Given the description of an element on the screen output the (x, y) to click on. 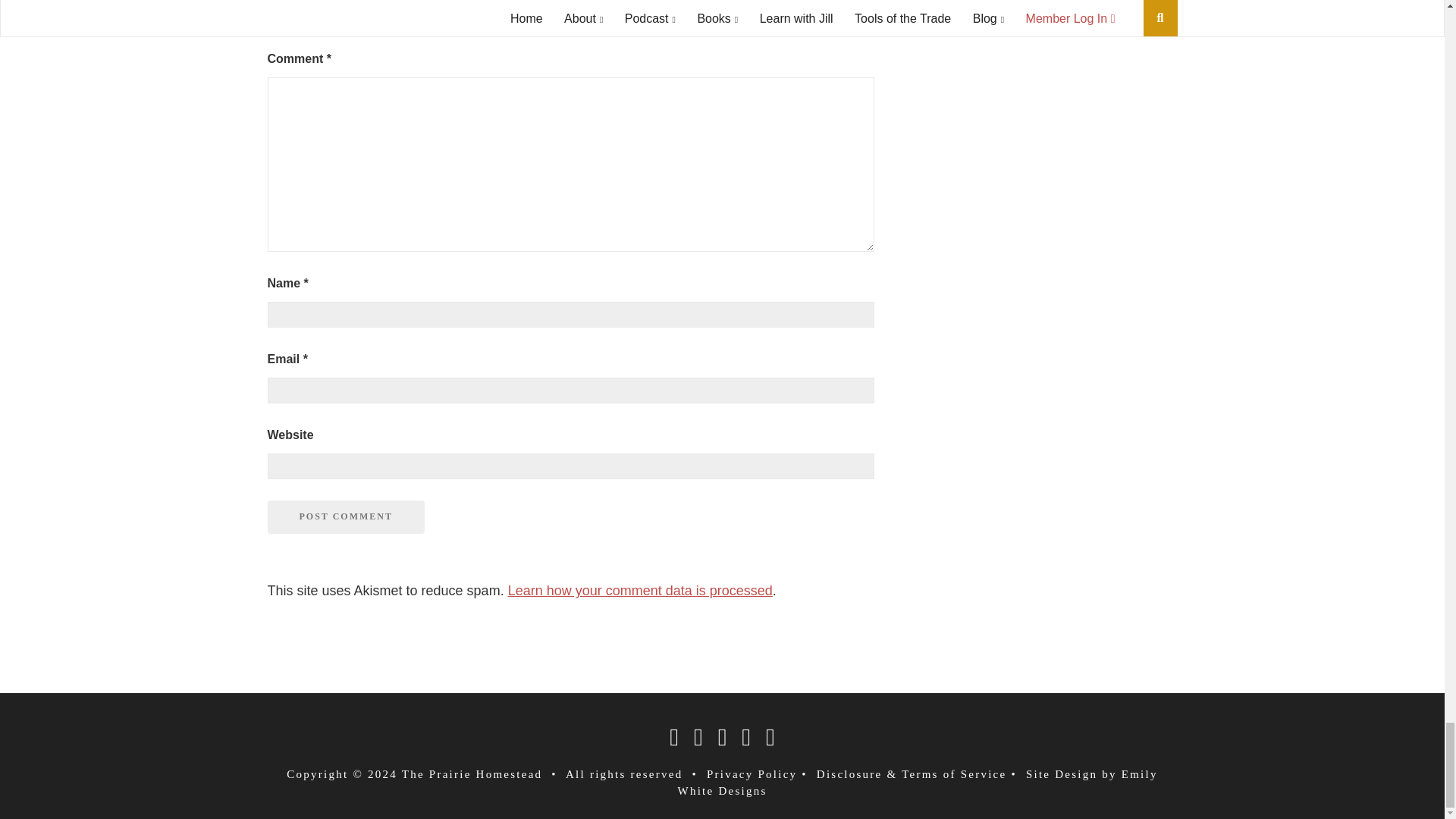
Emily White Designs (917, 782)
Post Comment (344, 516)
privay policy (751, 774)
